Given the description of an element on the screen output the (x, y) to click on. 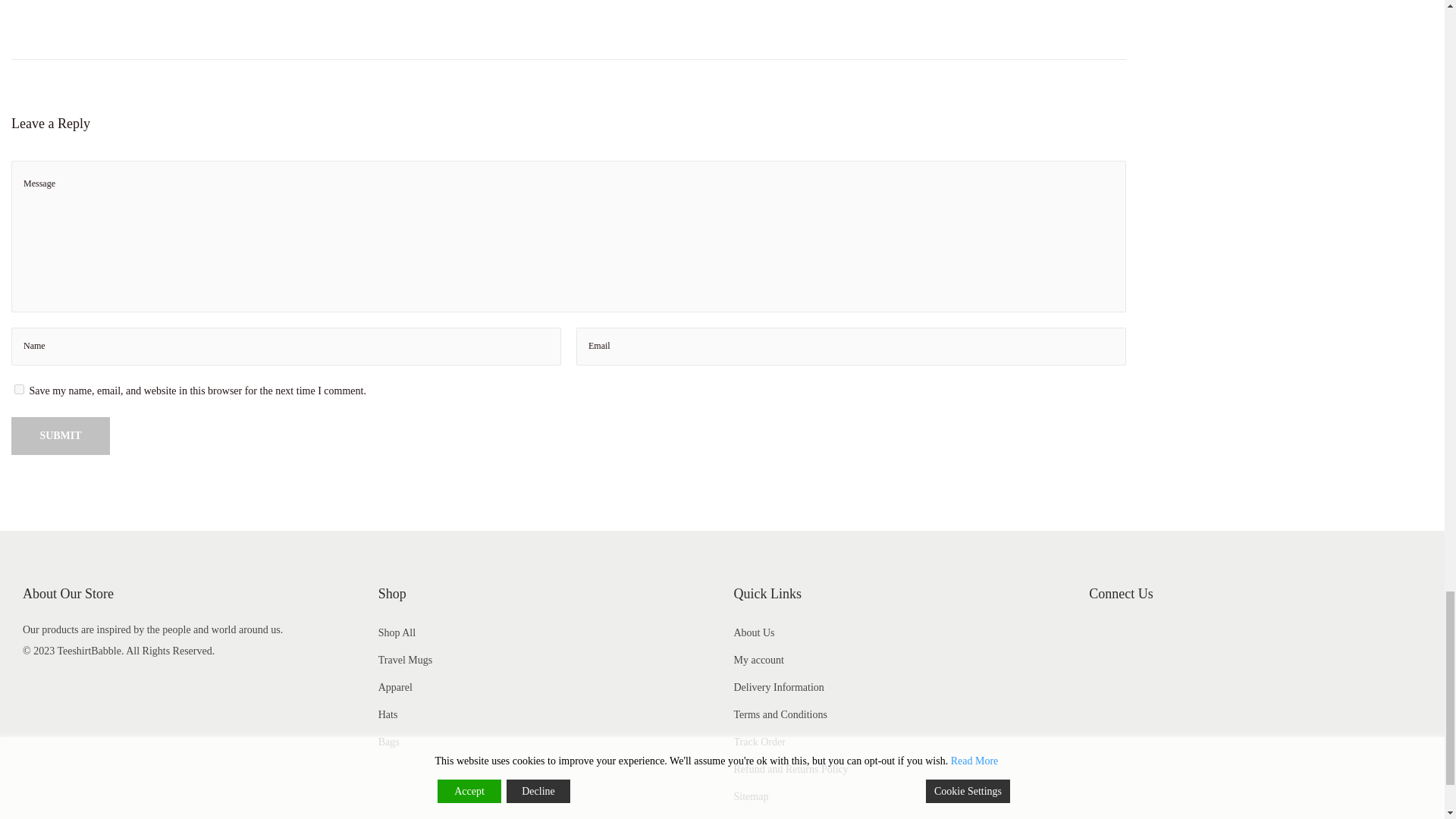
Read more (34, 0)
Read more (413, 0)
yes (19, 388)
Submit (60, 435)
